Given the description of an element on the screen output the (x, y) to click on. 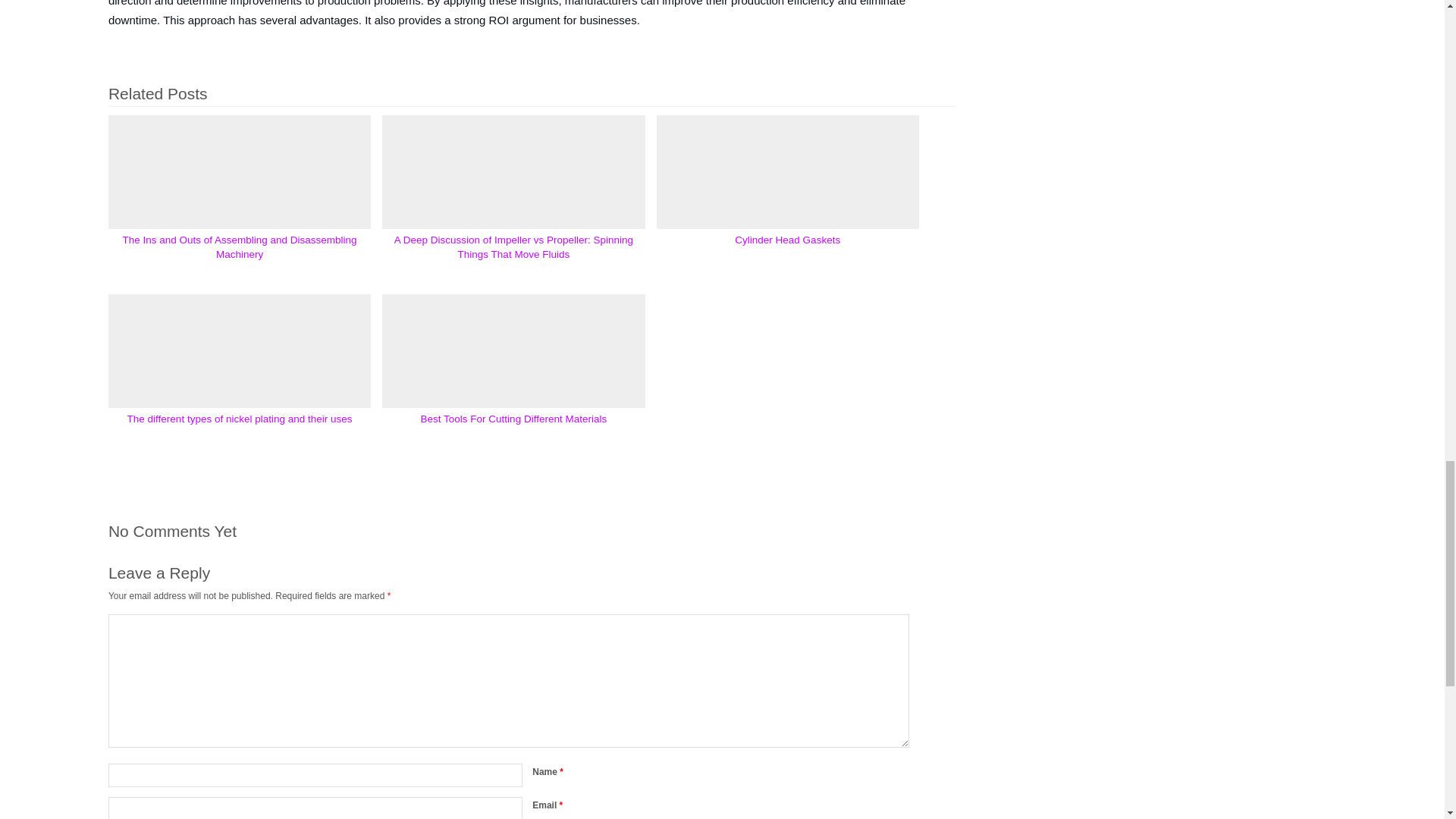
The Ins and Outs of Assembling and Disassembling Machinery (239, 246)
The Ins and Outs of Assembling and Disassembling Machinery (239, 247)
Cylinder Head Gaskets (787, 246)
